Given the description of an element on the screen output the (x, y) to click on. 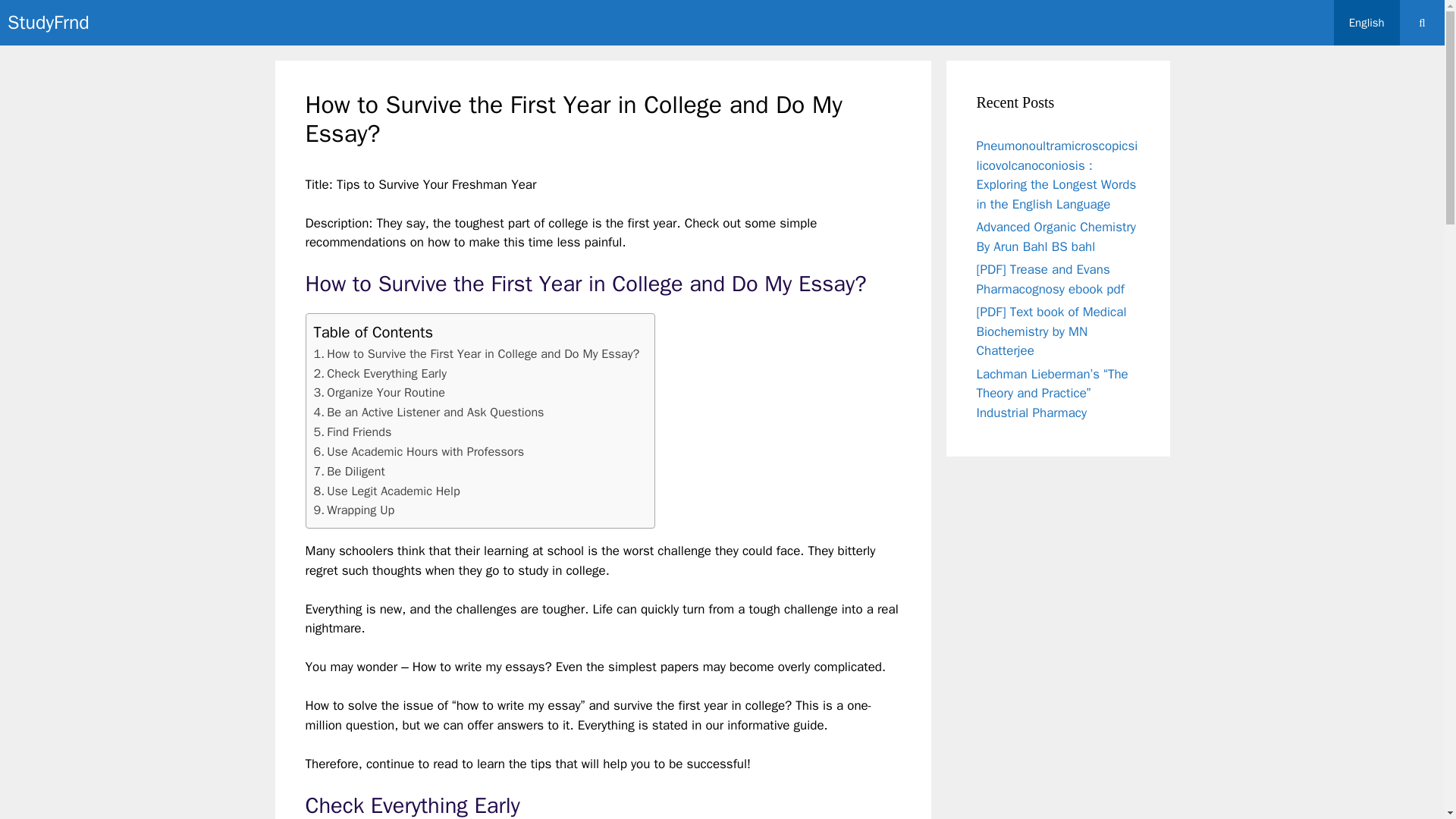
Use Academic Hours with Professors (419, 451)
StudyFrnd (47, 22)
Organize Your Routine (379, 392)
Use Legit Academic Help (387, 491)
Be Diligent (349, 471)
Advanced Organic Chemistry By Arun Bahl BS bahl (1056, 236)
Find Friends (352, 432)
How to Survive the First Year in College and Do My Essay? (477, 353)
Use Academic Hours with Professors (419, 451)
